Given the description of an element on the screen output the (x, y) to click on. 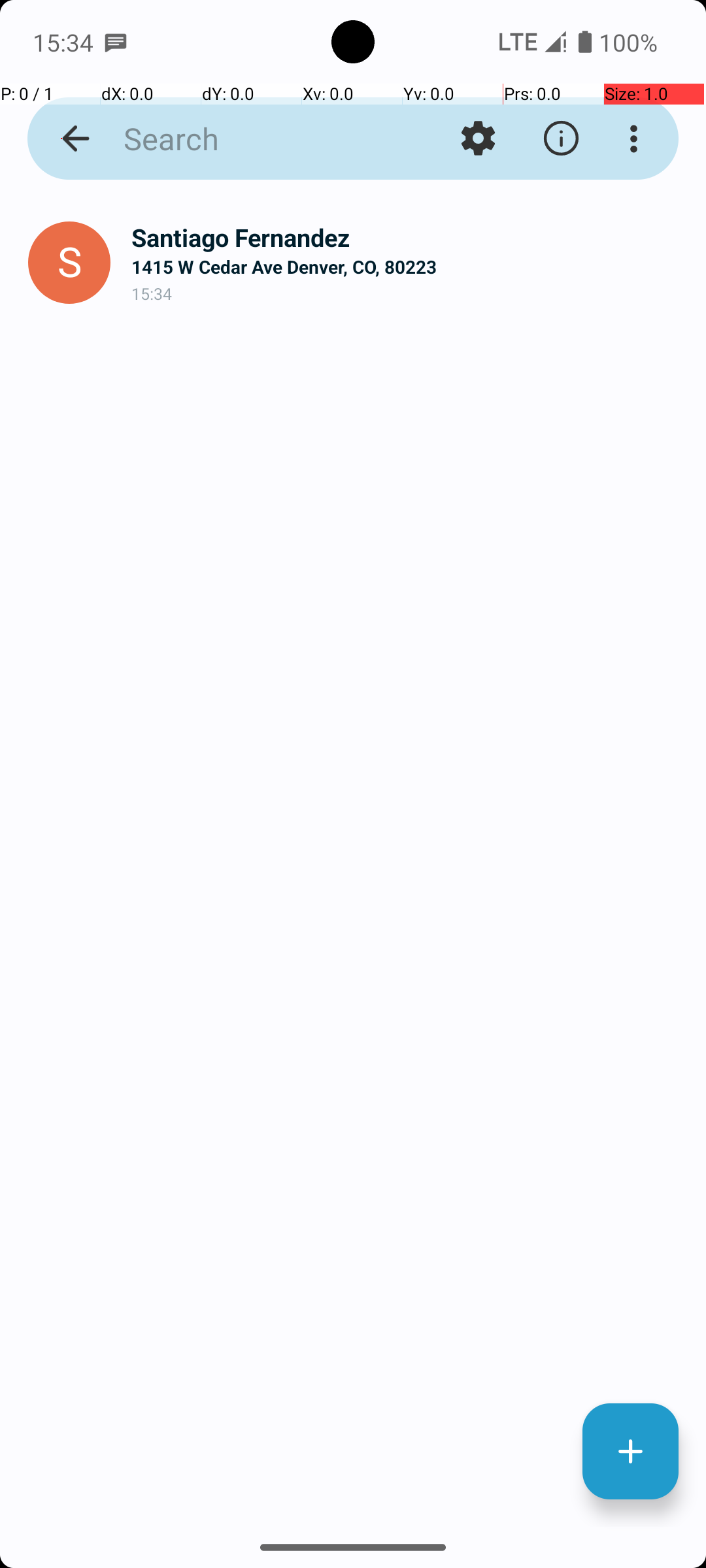
Santiago Fernandez Element type: android.widget.TextView (408, 237)
1415 W Cedar Ave Denver, CO, 80223 Element type: android.widget.TextView (408, 266)
SMS Messenger notification: Santiago Fernandez Element type: android.widget.ImageView (115, 41)
